Given the description of an element on the screen output the (x, y) to click on. 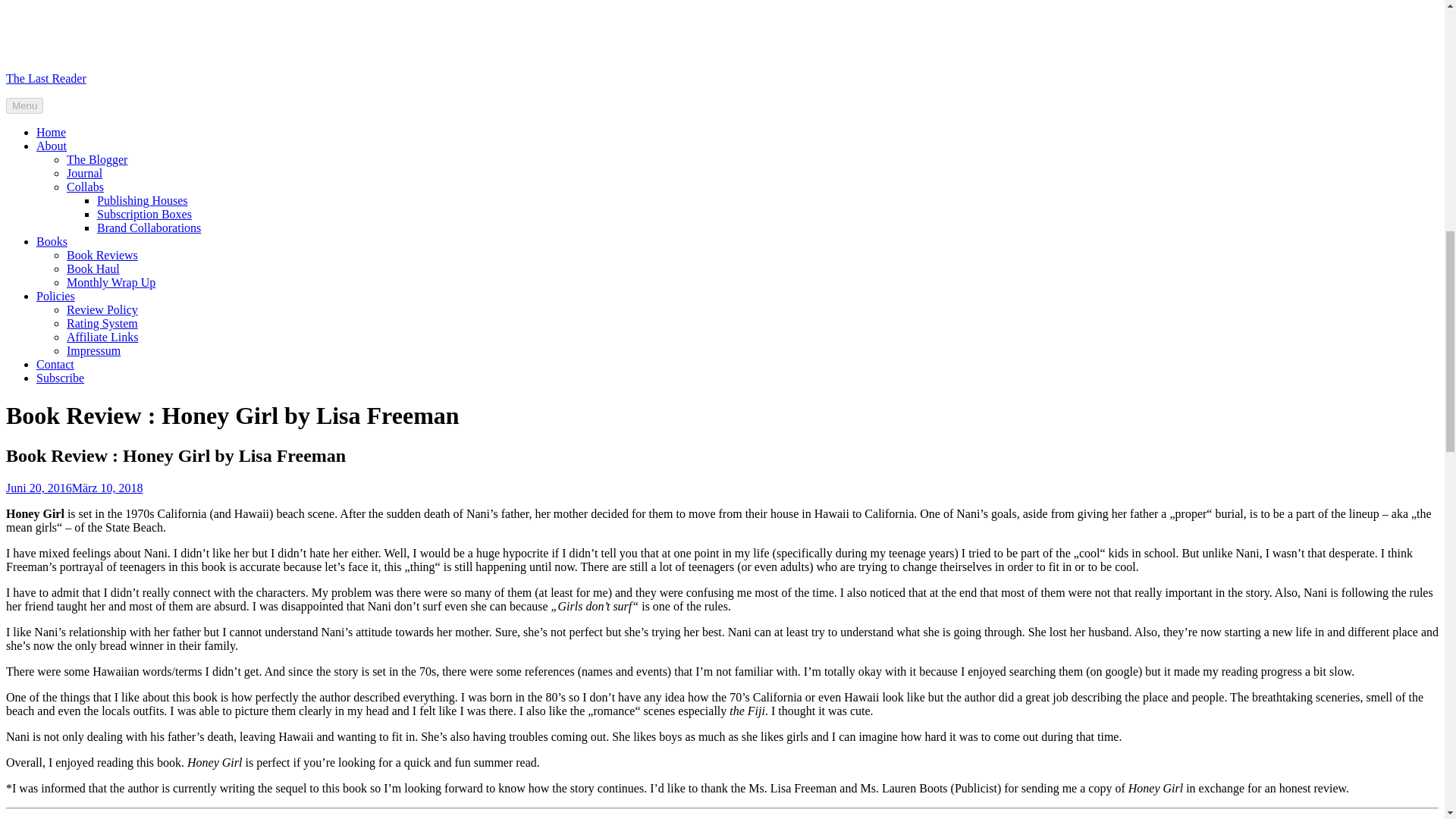
Review Policy (102, 309)
Subscribe (60, 377)
kath (152, 487)
Publishing Houses (142, 200)
Book Haul (92, 268)
Journal (83, 173)
The Last Reader (45, 78)
Brand Collaborations (148, 227)
Affiliate Links (102, 336)
The Blogger (97, 159)
About (51, 145)
Collabs (84, 186)
Monthly Wrap Up (110, 282)
Books (51, 241)
Policies (55, 295)
